Given the description of an element on the screen output the (x, y) to click on. 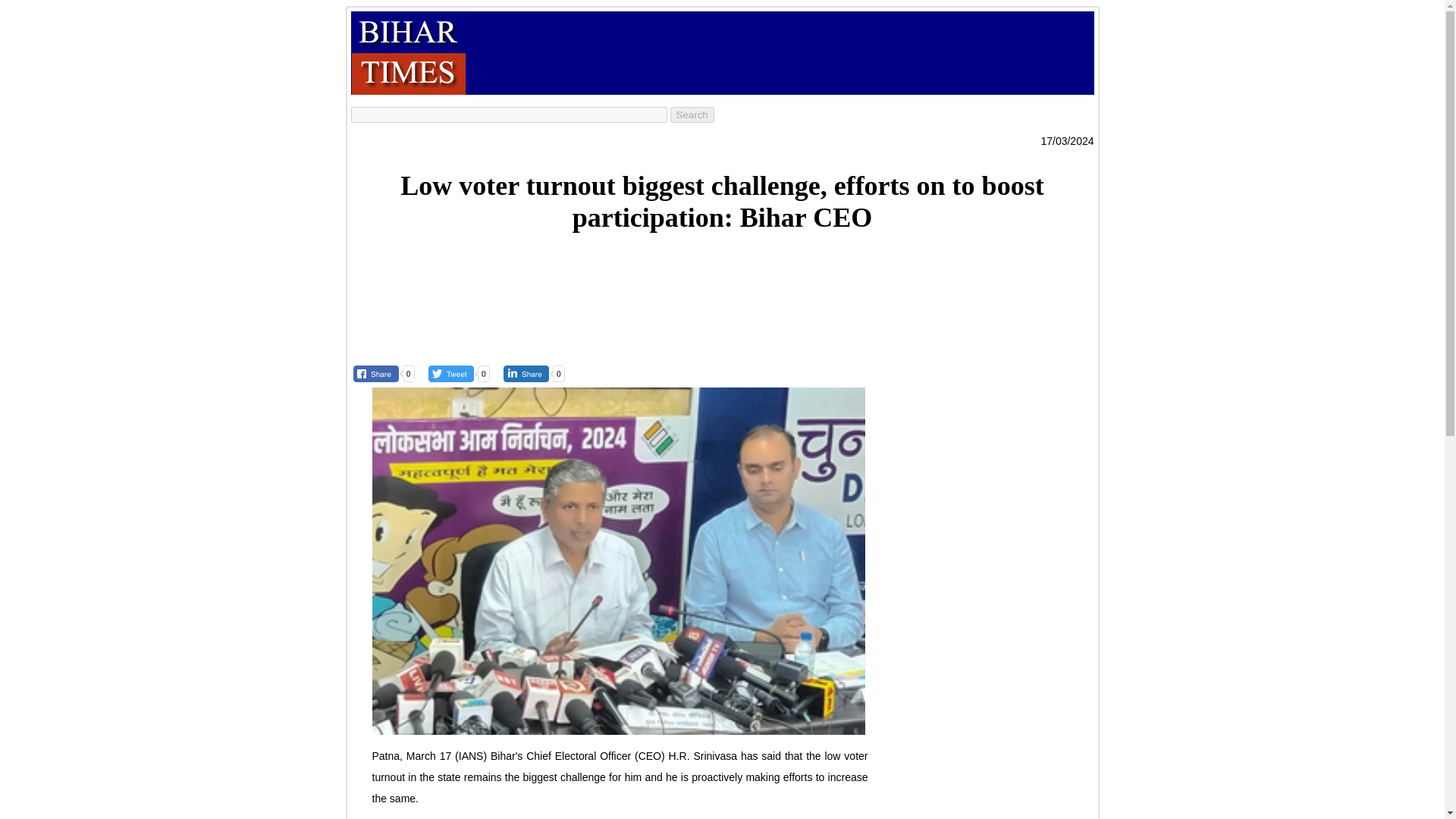
Advertisement (721, 290)
Search (691, 114)
Advertisement (741, 52)
Search (691, 114)
